Given the description of an element on the screen output the (x, y) to click on. 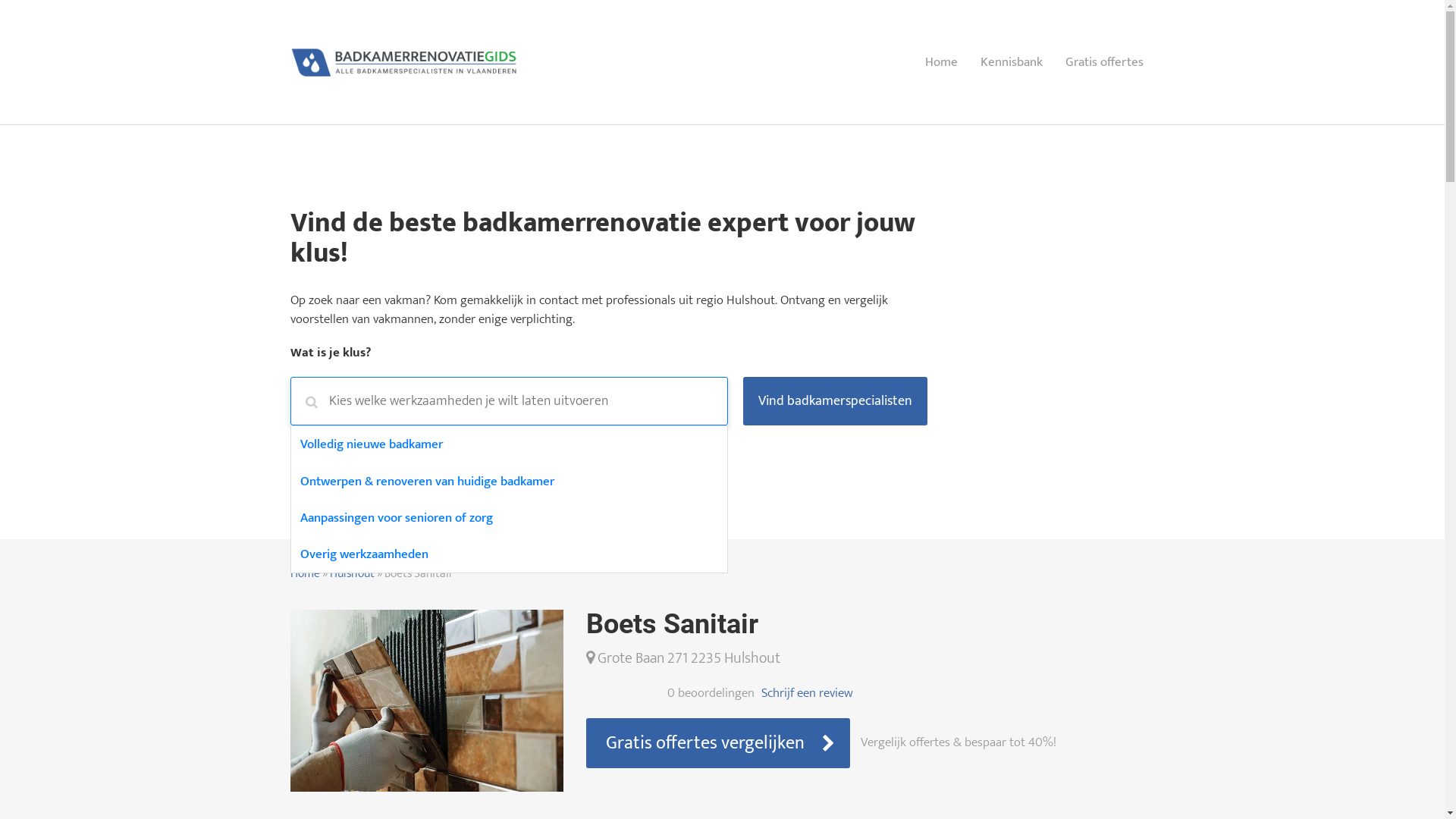
Badkamerrenovatie Gids Element type: hover (403, 60)
Home Element type: text (304, 573)
Hulshout Element type: text (351, 573)
Kennisbank Element type: text (1011, 61)
Gratis offertes Element type: text (1104, 61)
0 beoordelingen Schrijf een review Element type: text (869, 693)
Gratis offertes vergelijken Element type: text (717, 743)
Vind badkamerspecialisten Element type: text (835, 400)
Home Element type: text (940, 61)
